Given the description of an element on the screen output the (x, y) to click on. 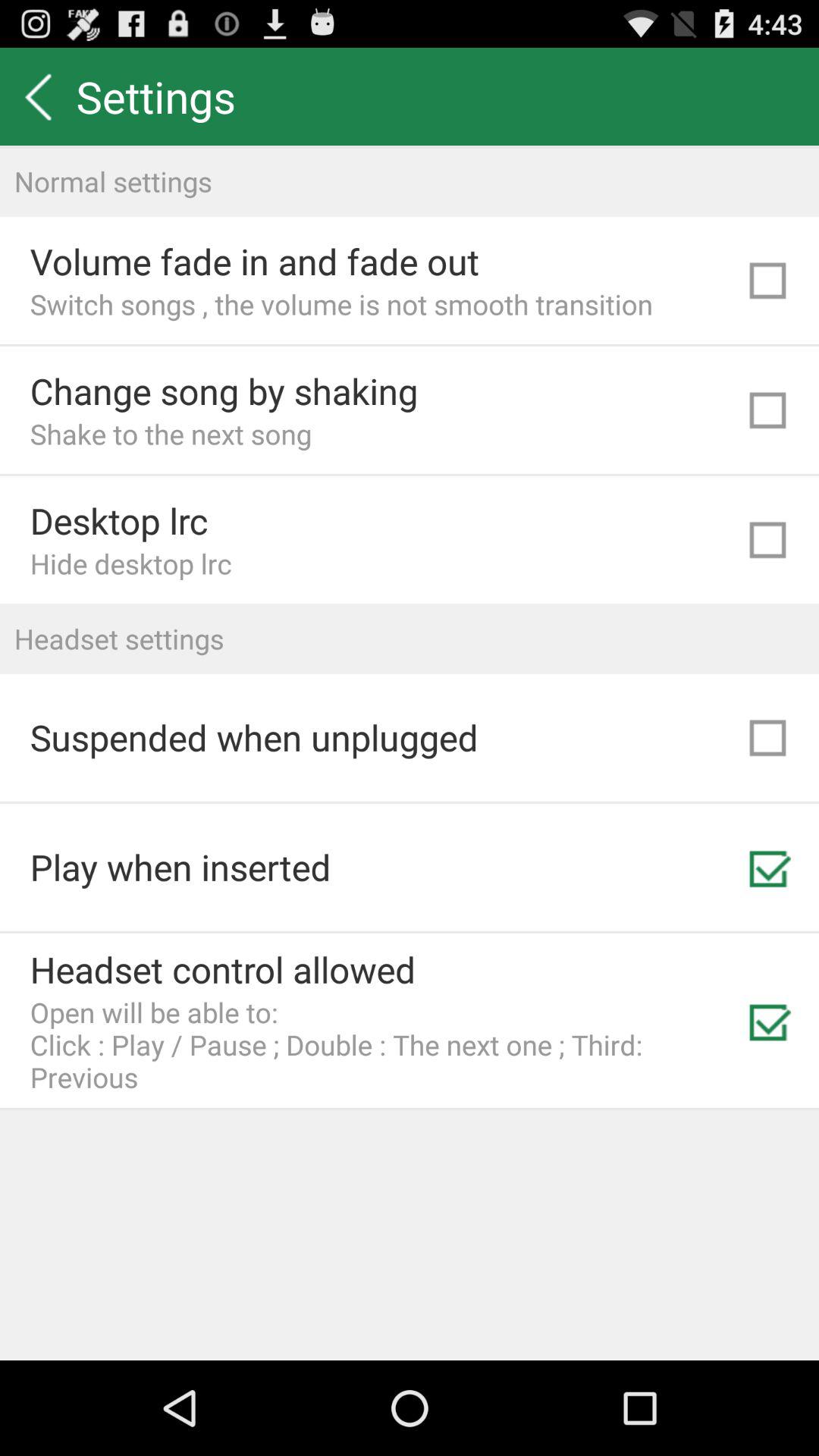
jump until normal settings icon (409, 181)
